Given the description of an element on the screen output the (x, y) to click on. 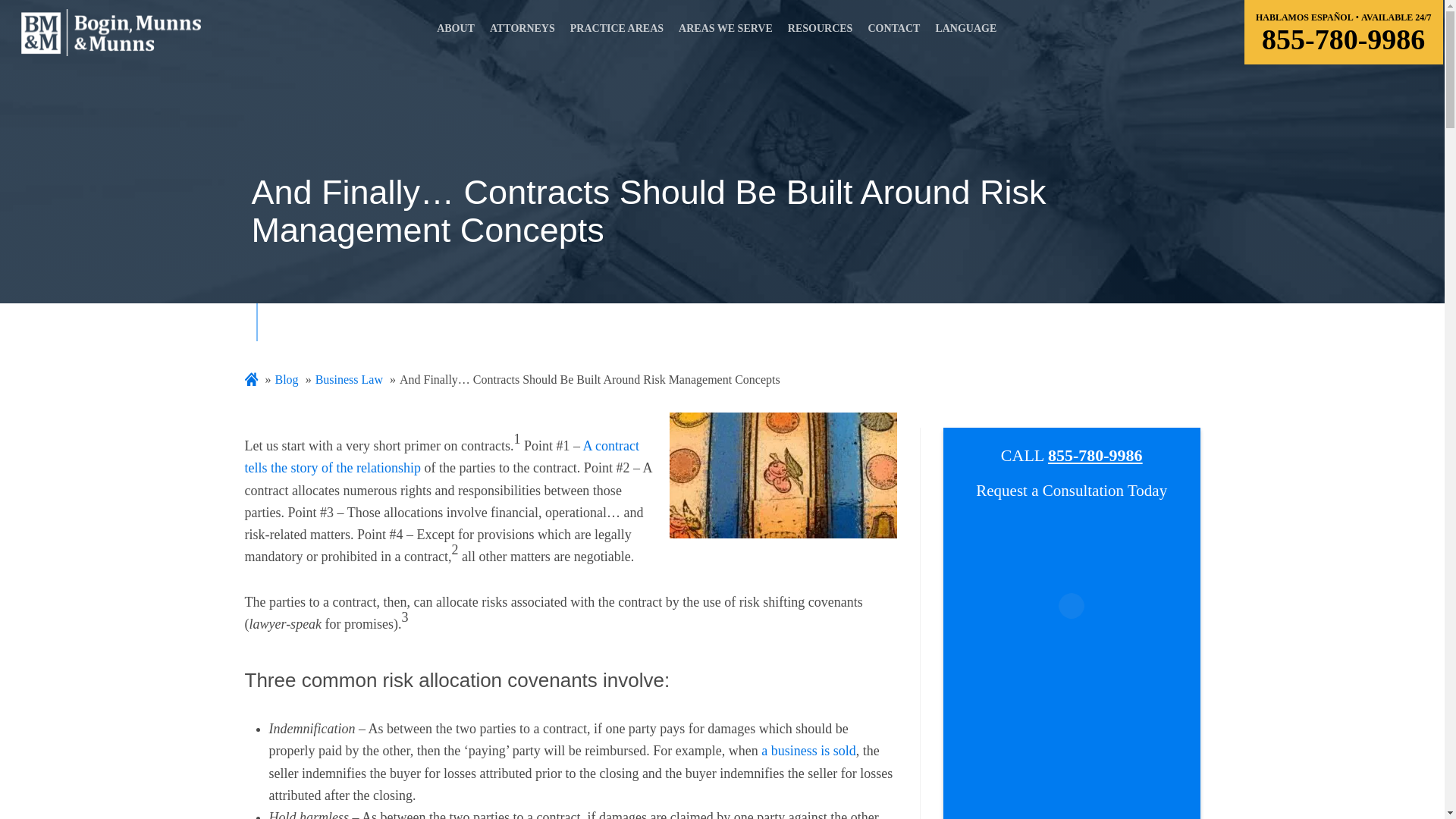
PRACTICE AREAS (616, 32)
AREAS WE SERVE (725, 32)
ATTORNEYS (522, 32)
